Given the description of an element on the screen output the (x, y) to click on. 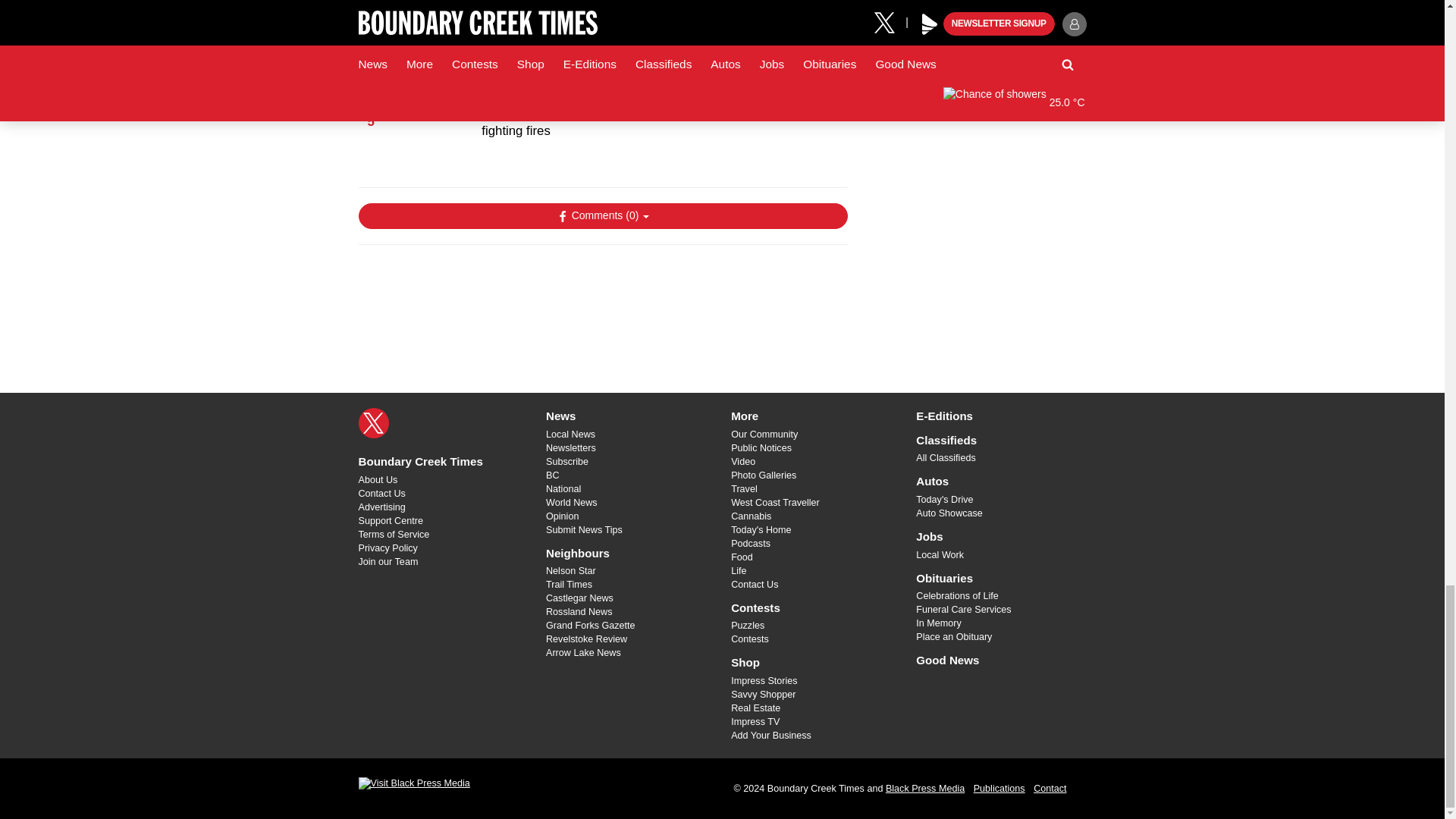
X (373, 422)
Show Comments (602, 216)
